Given the description of an element on the screen output the (x, y) to click on. 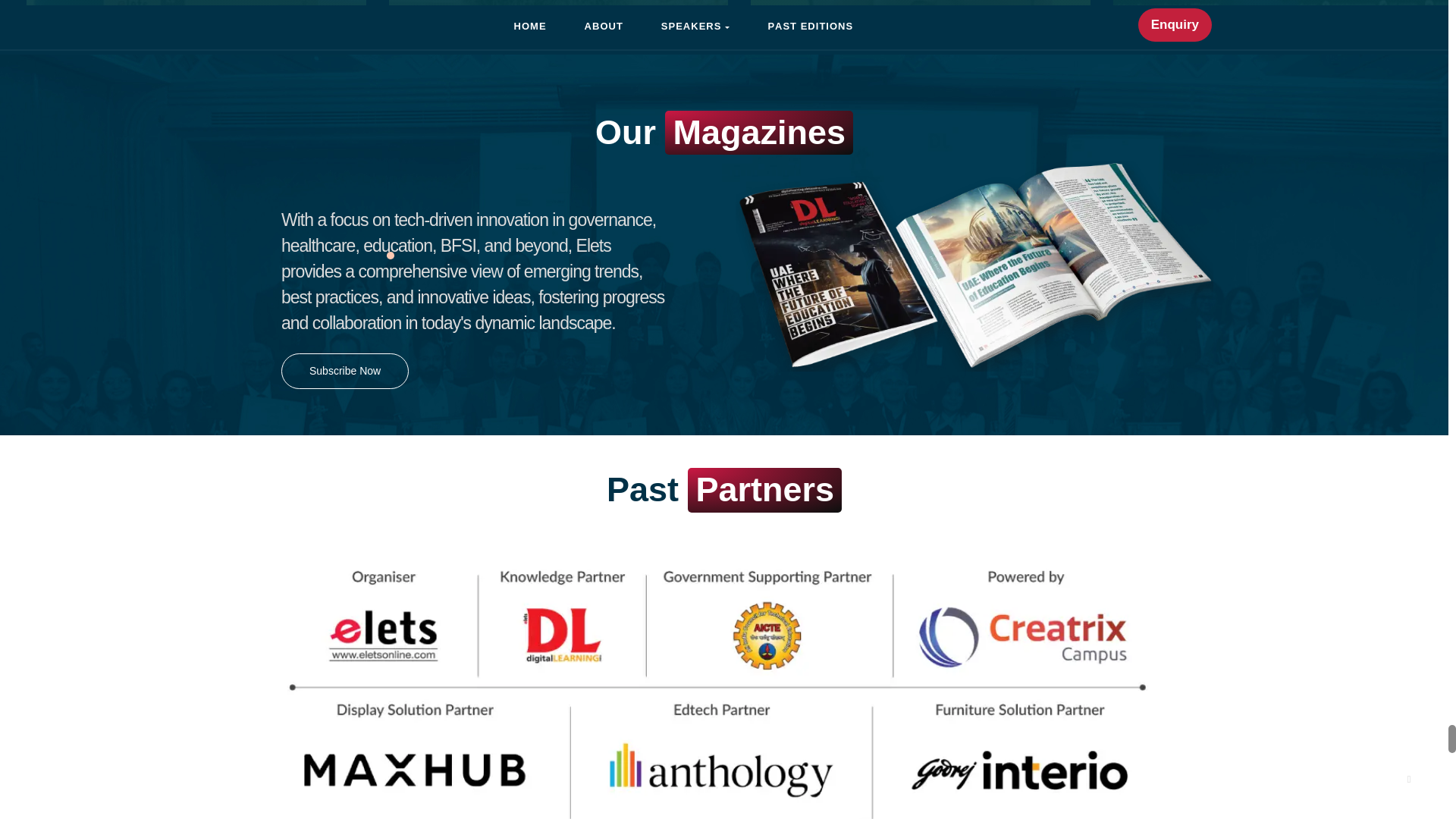
Subscribe Now (345, 370)
